Given the description of an element on the screen output the (x, y) to click on. 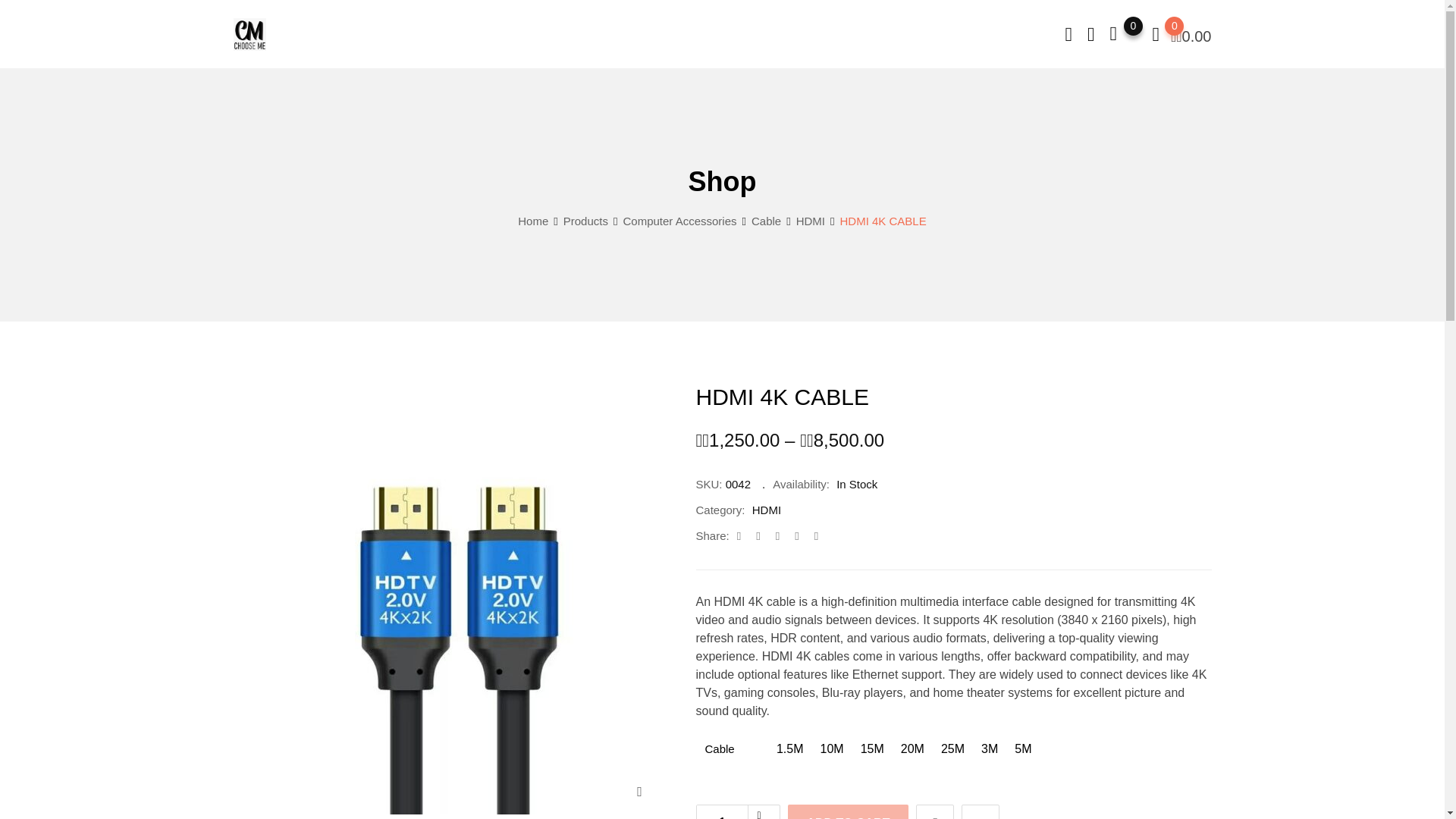
fa-linkedin (777, 535)
HDMI (766, 509)
Zoom (639, 788)
Cable (765, 220)
Products (585, 220)
Home (533, 220)
ADD TO CART (847, 811)
fa-pinterest (795, 535)
1.5M (790, 748)
Search (1067, 34)
10M (831, 748)
Computer Accessories (679, 220)
fa-facebook (738, 535)
15M (872, 748)
My Account (1090, 34)
